Given the description of an element on the screen output the (x, y) to click on. 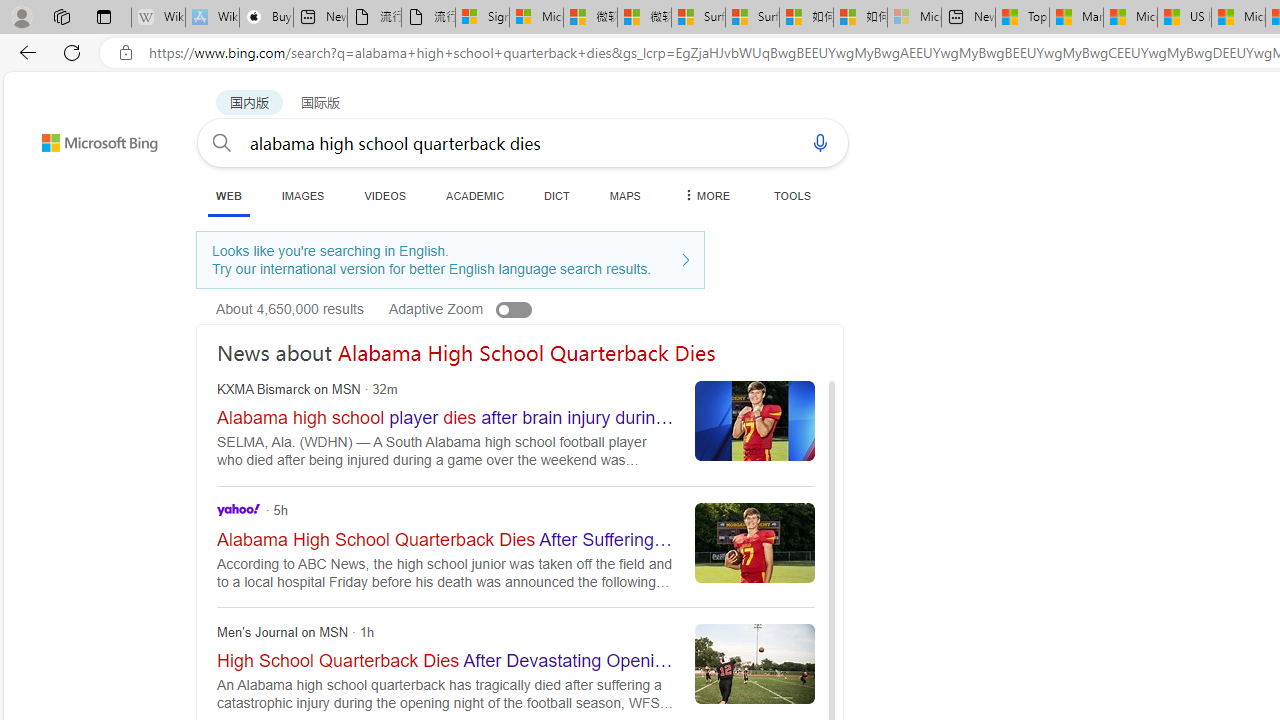
Microsoft account | Account Checkup - Sleeping (914, 17)
Back to Bing search (87, 138)
Search button (221, 142)
